Given the description of an element on the screen output the (x, y) to click on. 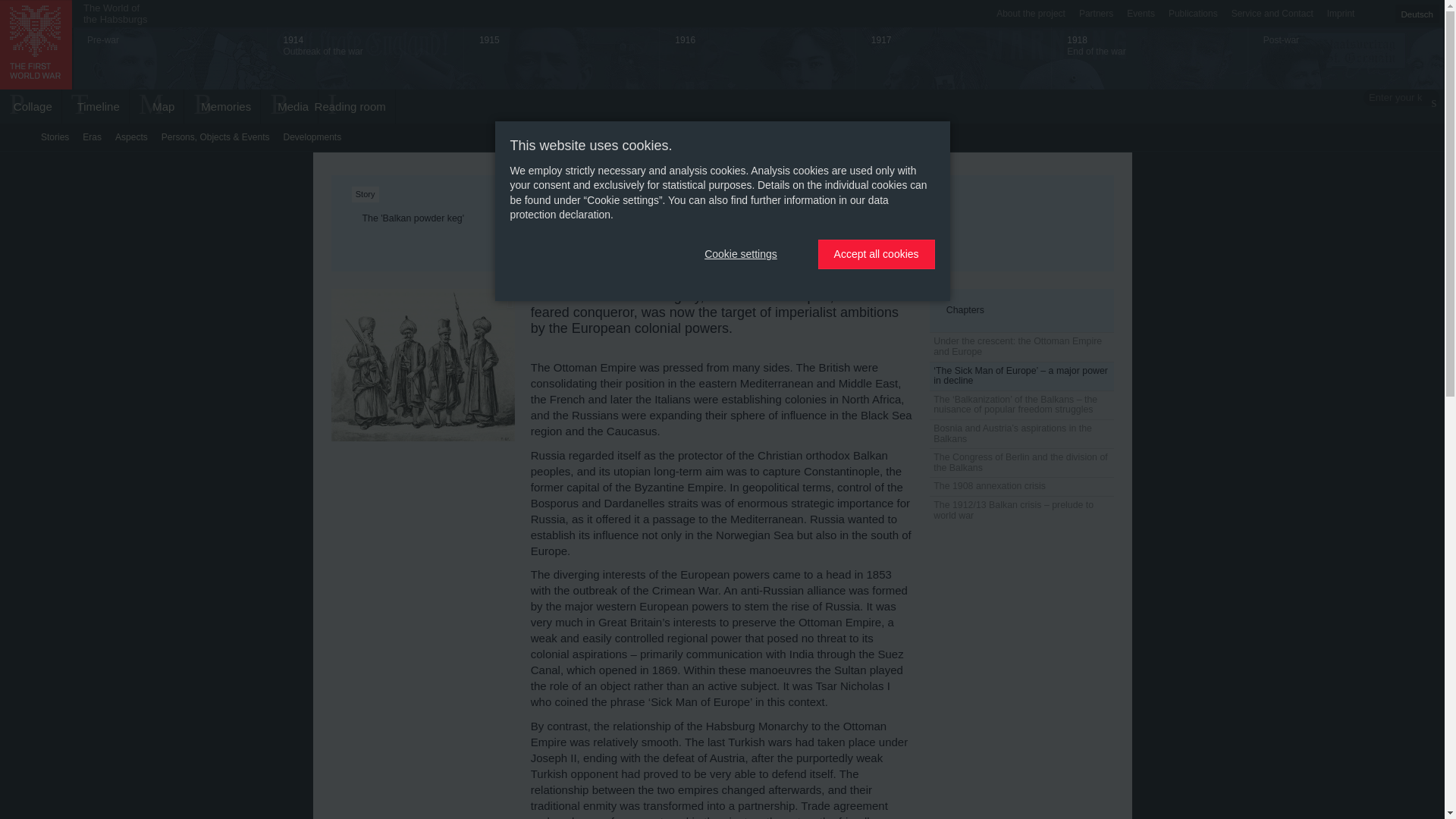
Stories (54, 136)
Deutsch (1416, 13)
Publications (1192, 13)
Partners (1095, 13)
Chapters (1022, 310)
Under the crescent: the Ottoman Empire and Europe (1021, 346)
Search (115, 13)
About the project (27, 8)
Eras (1030, 13)
Aspects (91, 136)
Timeline (130, 136)
Map (95, 106)
Imprint (156, 106)
Events (1340, 13)
